Given the description of an element on the screen output the (x, y) to click on. 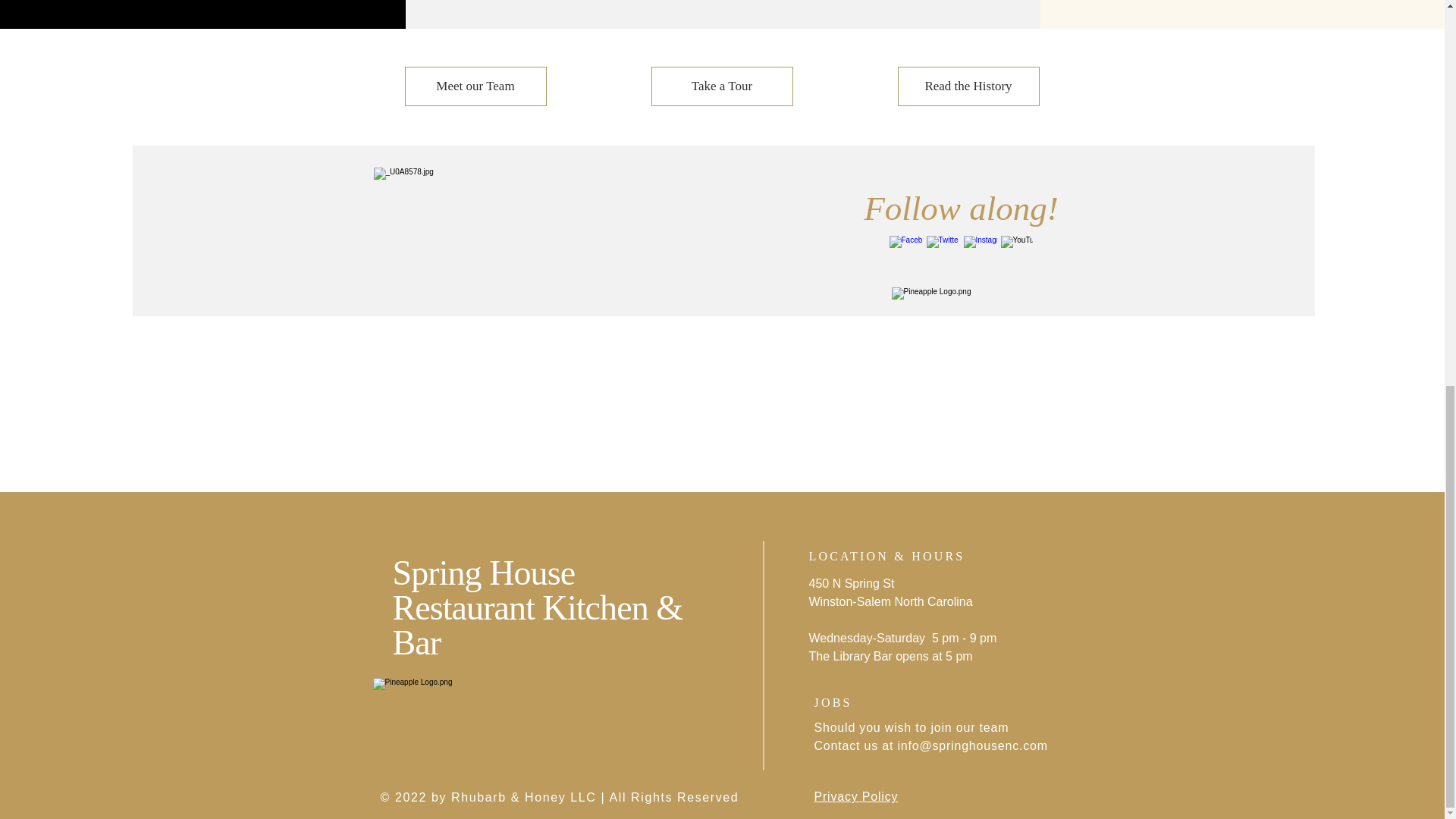
Privacy Policy (855, 796)
Take a Tour (721, 86)
Read the History (968, 86)
Meet our Team (475, 86)
